Given the description of an element on the screen output the (x, y) to click on. 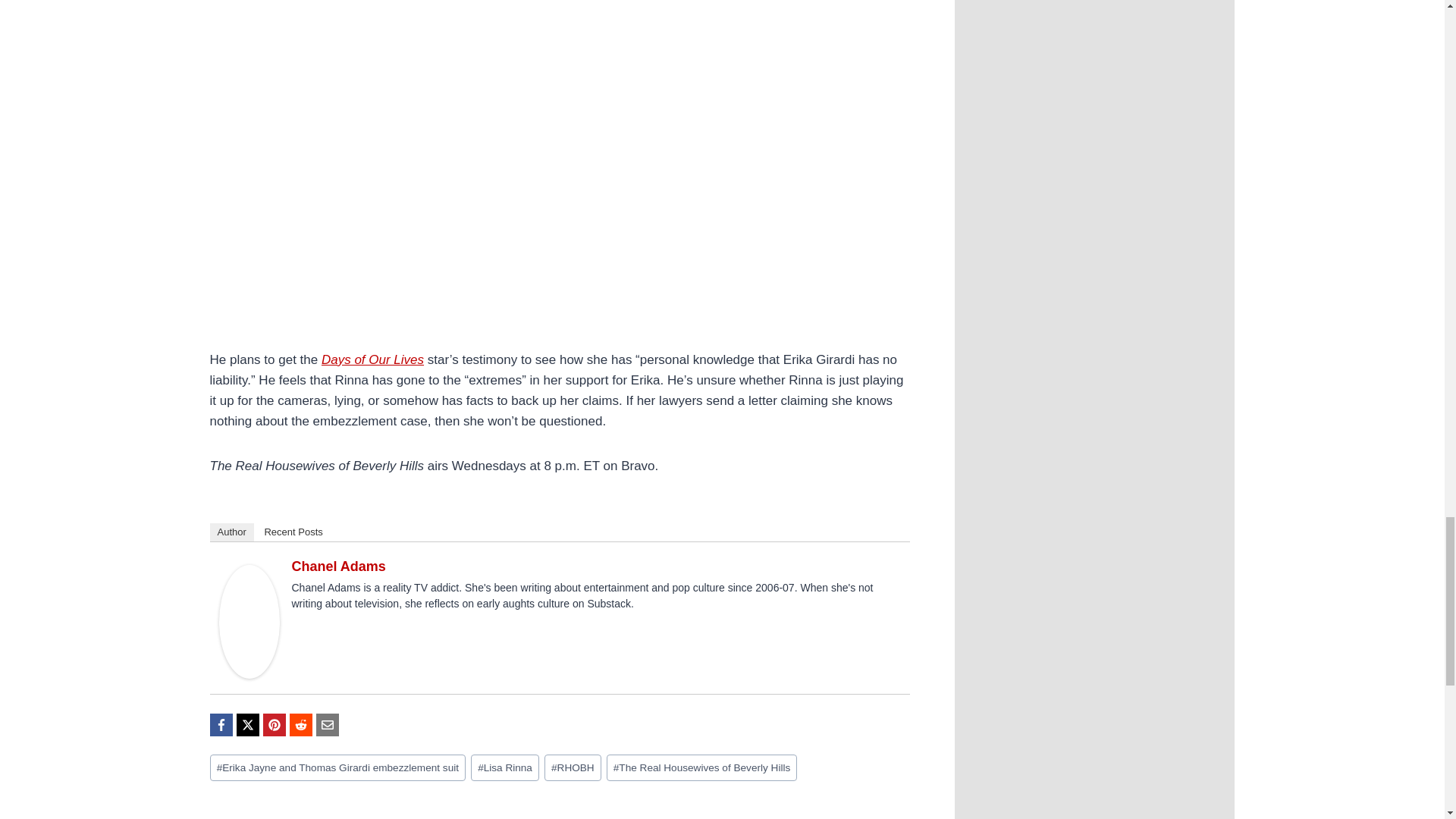
RHOBH (572, 767)
Lisa Rinna (504, 767)
Recent Posts (293, 532)
Days of Our Lives (372, 359)
Author (231, 532)
Chanel Adams (338, 566)
The Real Housewives of Beverly Hills (702, 767)
Erika Jayne and Thomas Girardi embezzlement suit (337, 767)
